Given the description of an element on the screen output the (x, y) to click on. 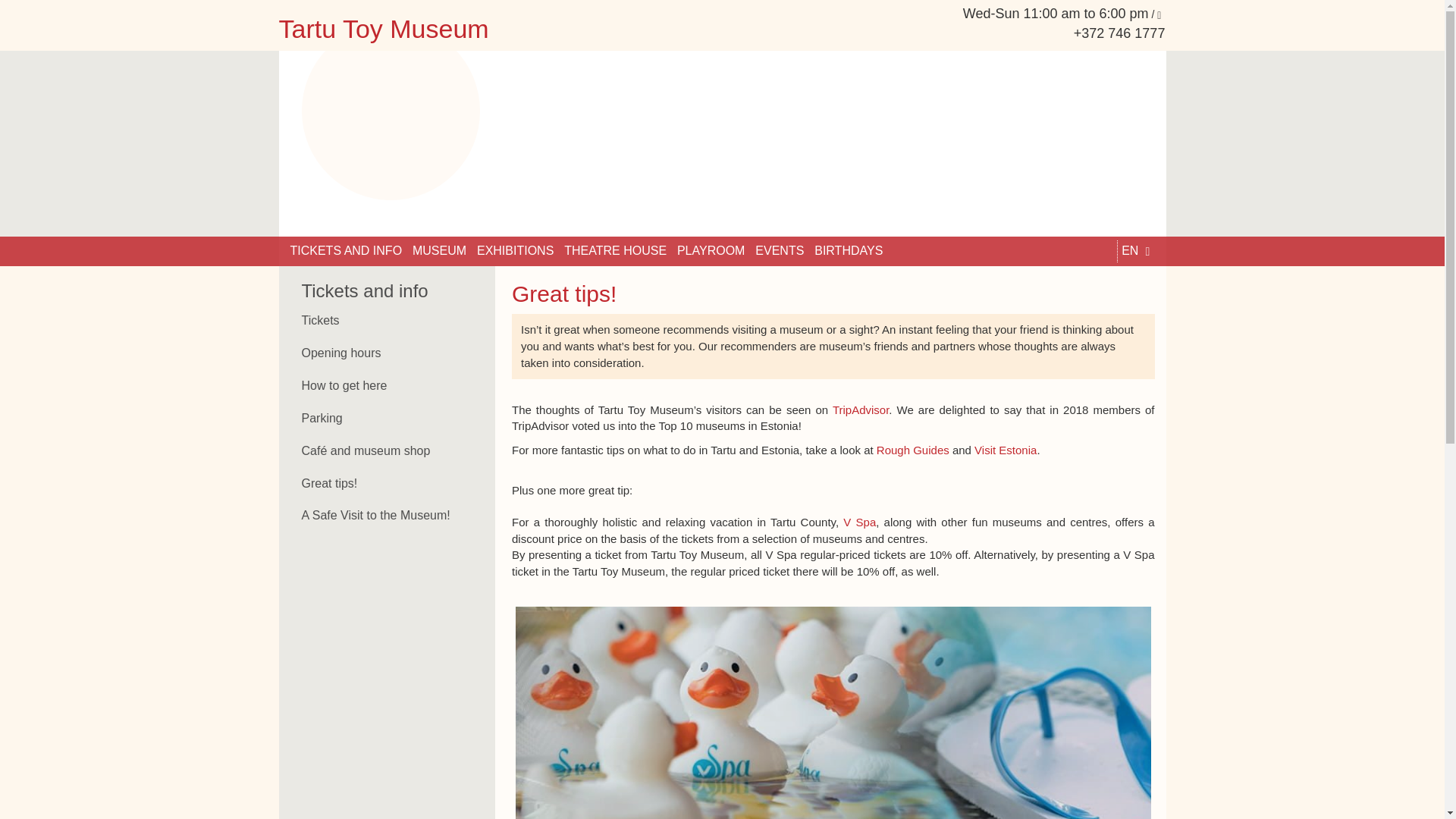
THEATRE HOUSE (615, 251)
MUSEUM (438, 251)
TICKETS AND INFO (345, 251)
Tartu Toy Museum (589, 29)
EXHIBITIONS (515, 251)
